Given the description of an element on the screen output the (x, y) to click on. 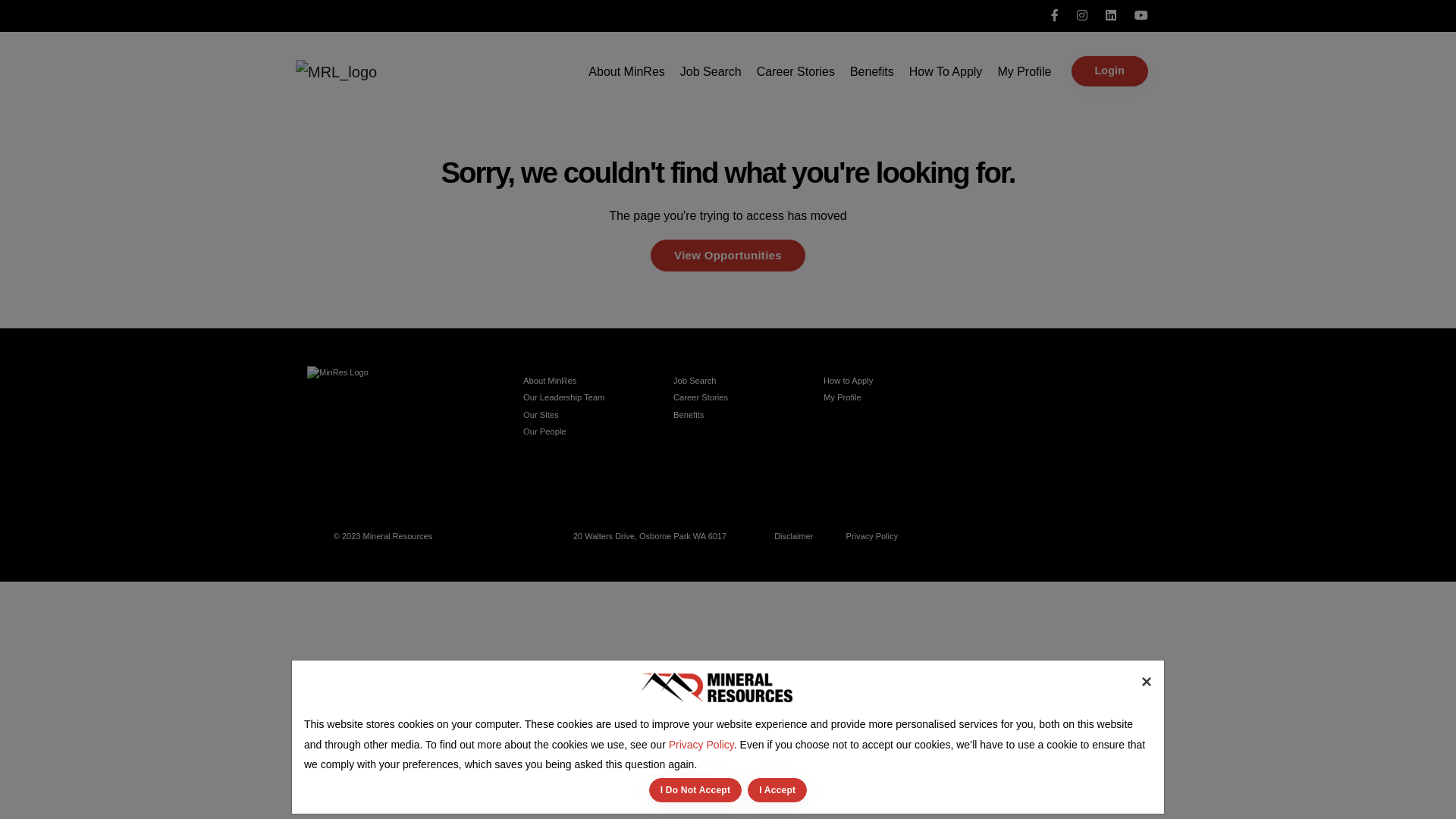
View Opportunities Element type: text (727, 255)
Career Stories Element type: text (700, 396)
How to Apply Element type: text (847, 380)
Benefits Element type: text (871, 71)
How To Apply Element type: text (945, 71)
Career Stories Element type: text (795, 71)
Login Element type: text (1109, 71)
I Do Not Accept Element type: text (695, 790)
Our People Element type: text (544, 431)
20 Walters Drive, Osborne Park WA 6017 Element type: text (649, 535)
Our Sites Element type: text (540, 414)
I Accept Element type: text (776, 790)
Benefits Element type: text (688, 414)
About MinRes Element type: text (549, 380)
My Profile Element type: text (842, 396)
About MinRes Element type: text (626, 71)
Privacy Policy Element type: text (871, 535)
Job Search Element type: text (694, 380)
Job Search Element type: text (710, 71)
My Profile Element type: text (1023, 71)
Our Leadership Team Element type: text (563, 396)
Privacy Policy Element type: text (701, 744)
Disclaimer Element type: text (793, 535)
